Given the description of an element on the screen output the (x, y) to click on. 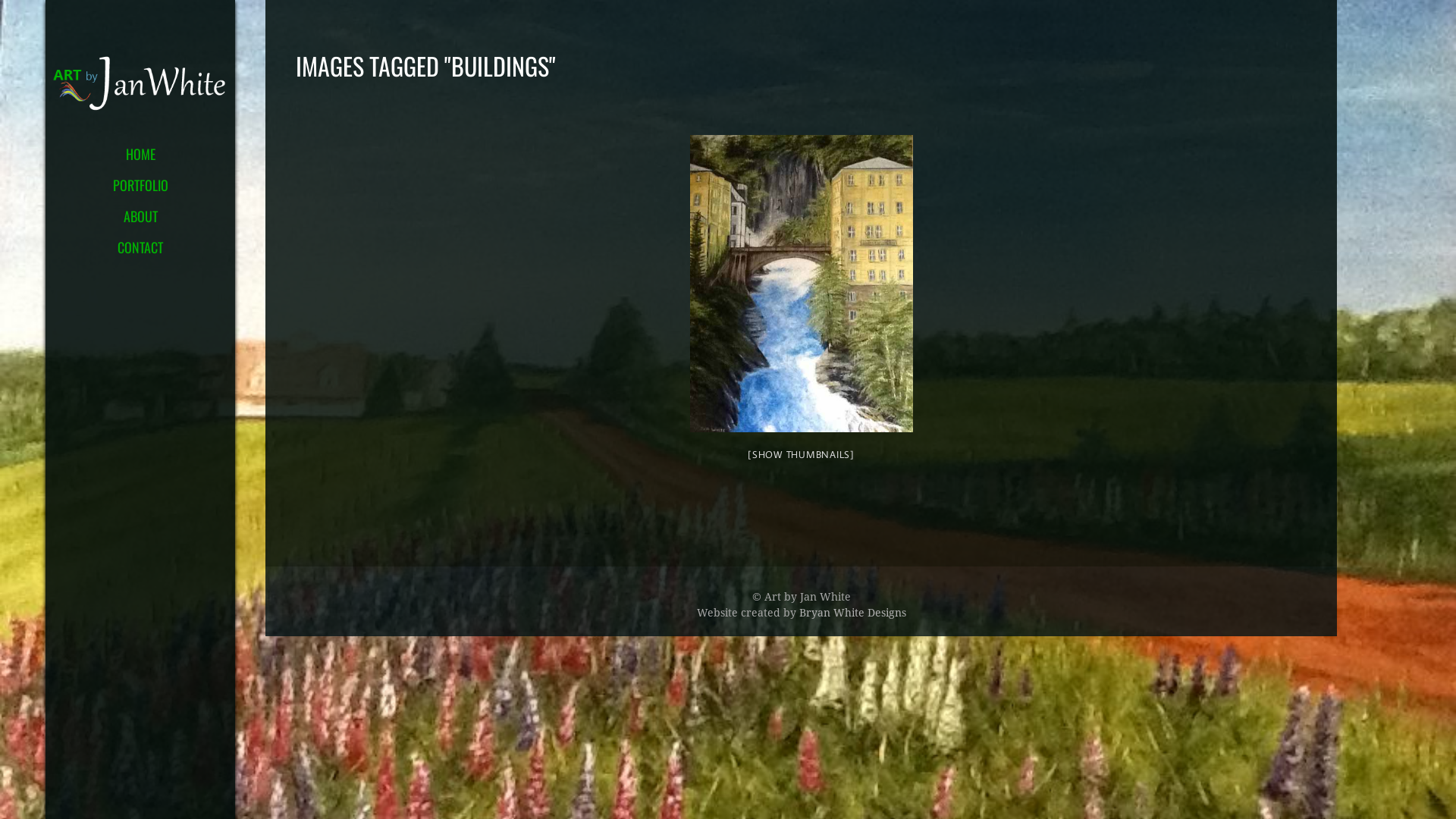
PORTFOLIO Element type: text (140, 189)
ABOUT Element type: text (140, 220)
Bryan White Designs Element type: text (852, 612)
Cascading waterfall in mountain village. Size 18x24 Element type: hover (801, 283)
CONTACT Element type: text (140, 251)
HOME Element type: text (140, 158)
[SHOW THUMBNAILS] Element type: text (800, 454)
Art by Jan White Element type: hover (140, 82)
